Given the description of an element on the screen output the (x, y) to click on. 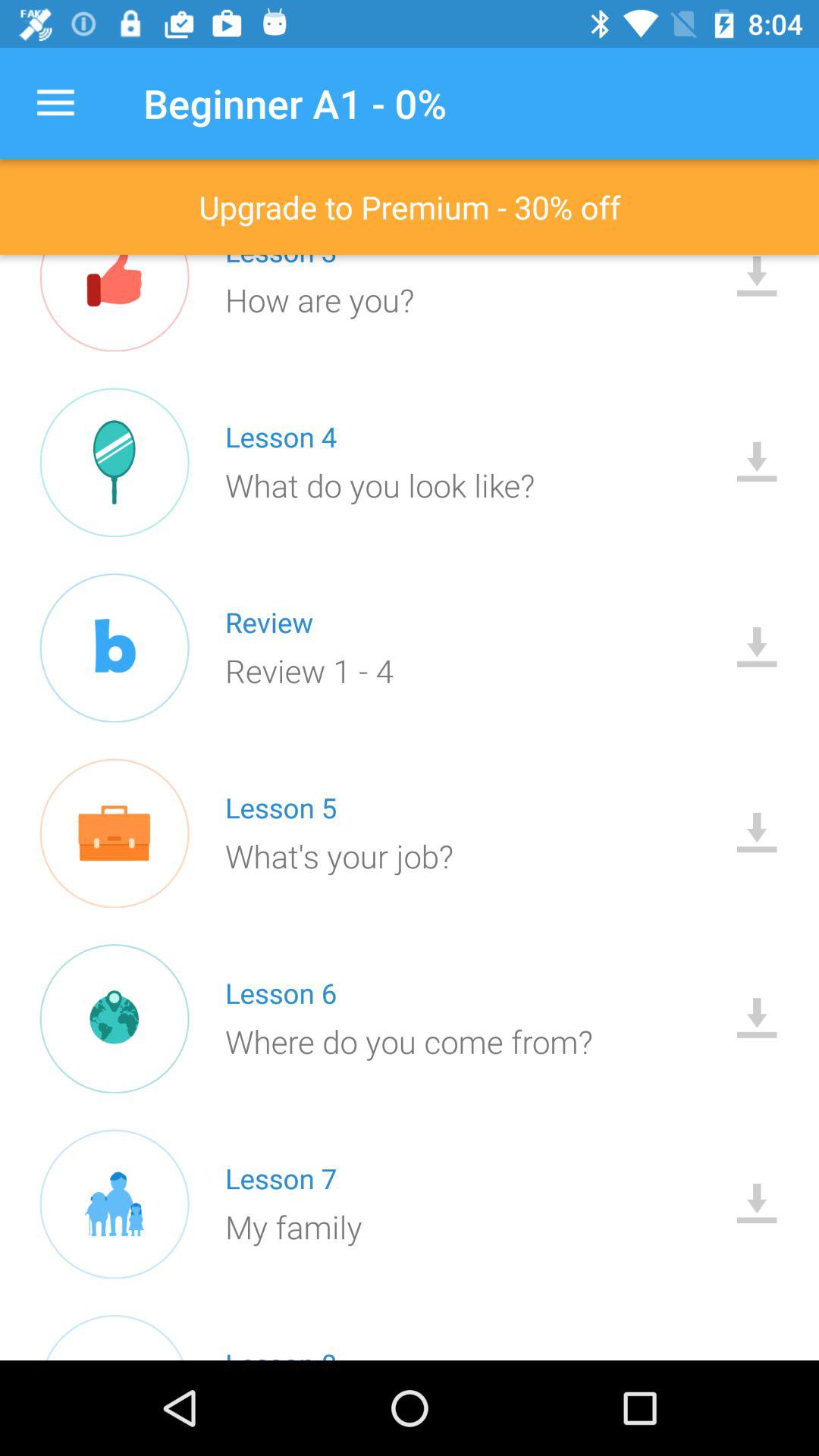
turn off the app to the left of the beginner a1 - 0% app (55, 103)
